Given the description of an element on the screen output the (x, y) to click on. 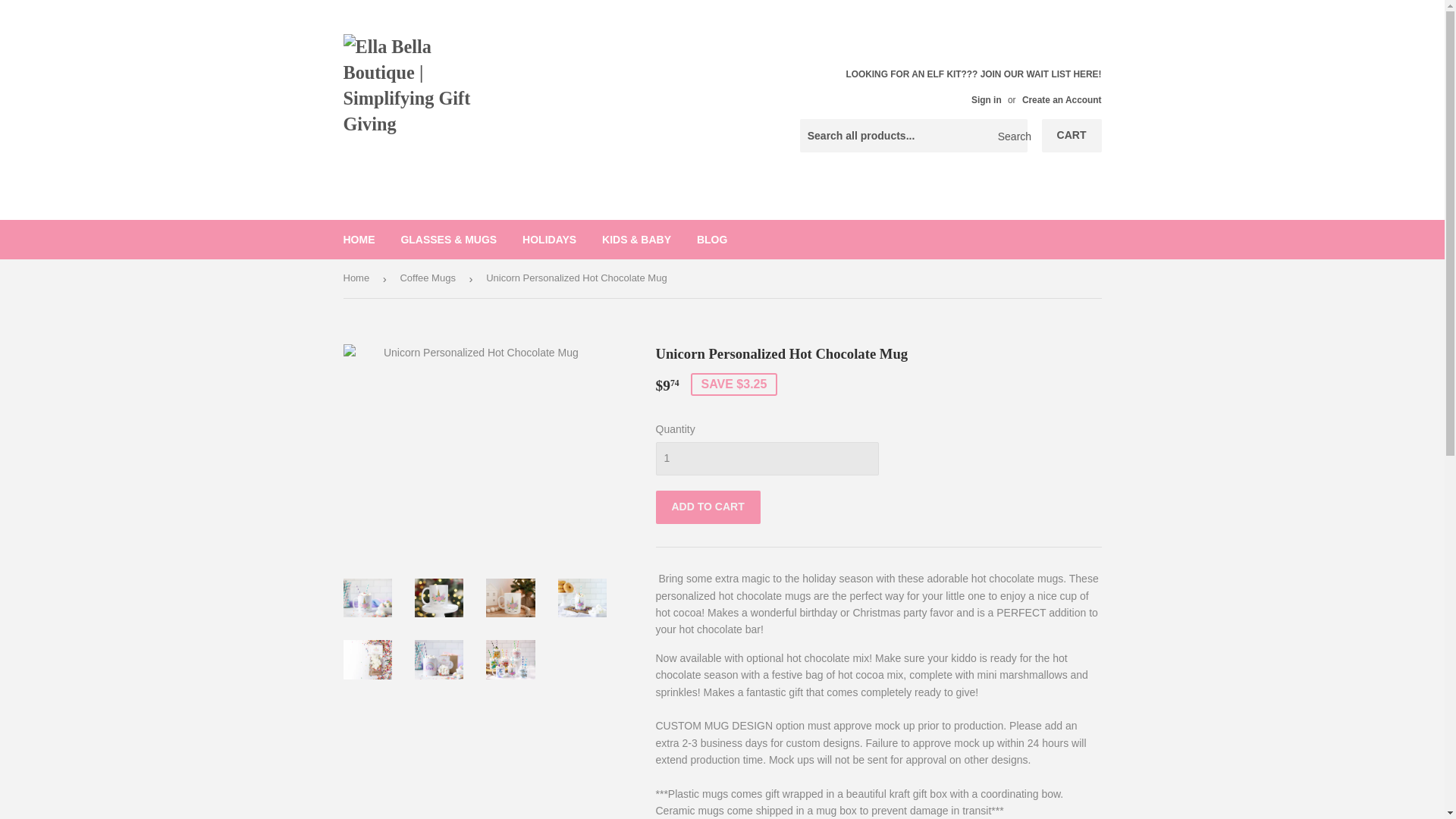
CART (1072, 135)
1 (766, 458)
LOOKING FOR AN ELF KIT??? JOIN OUR WAIT LIST HERE! (972, 86)
Create an Account (1062, 100)
HOLIDAYS (549, 239)
Search (1009, 136)
HOME (359, 239)
Sign in (986, 100)
